Given the description of an element on the screen output the (x, y) to click on. 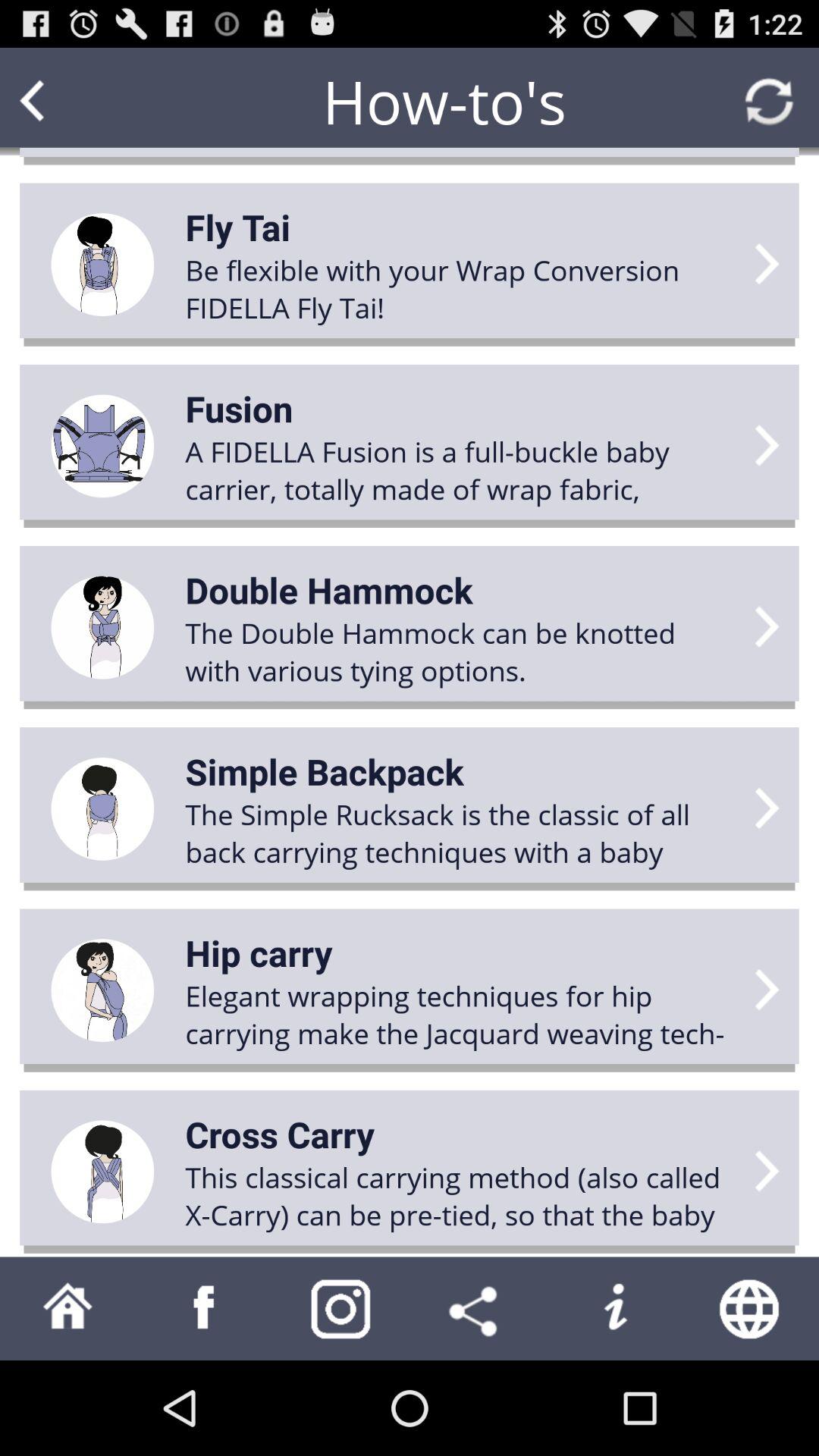
open information menu (614, 1308)
